Given the description of an element on the screen output the (x, y) to click on. 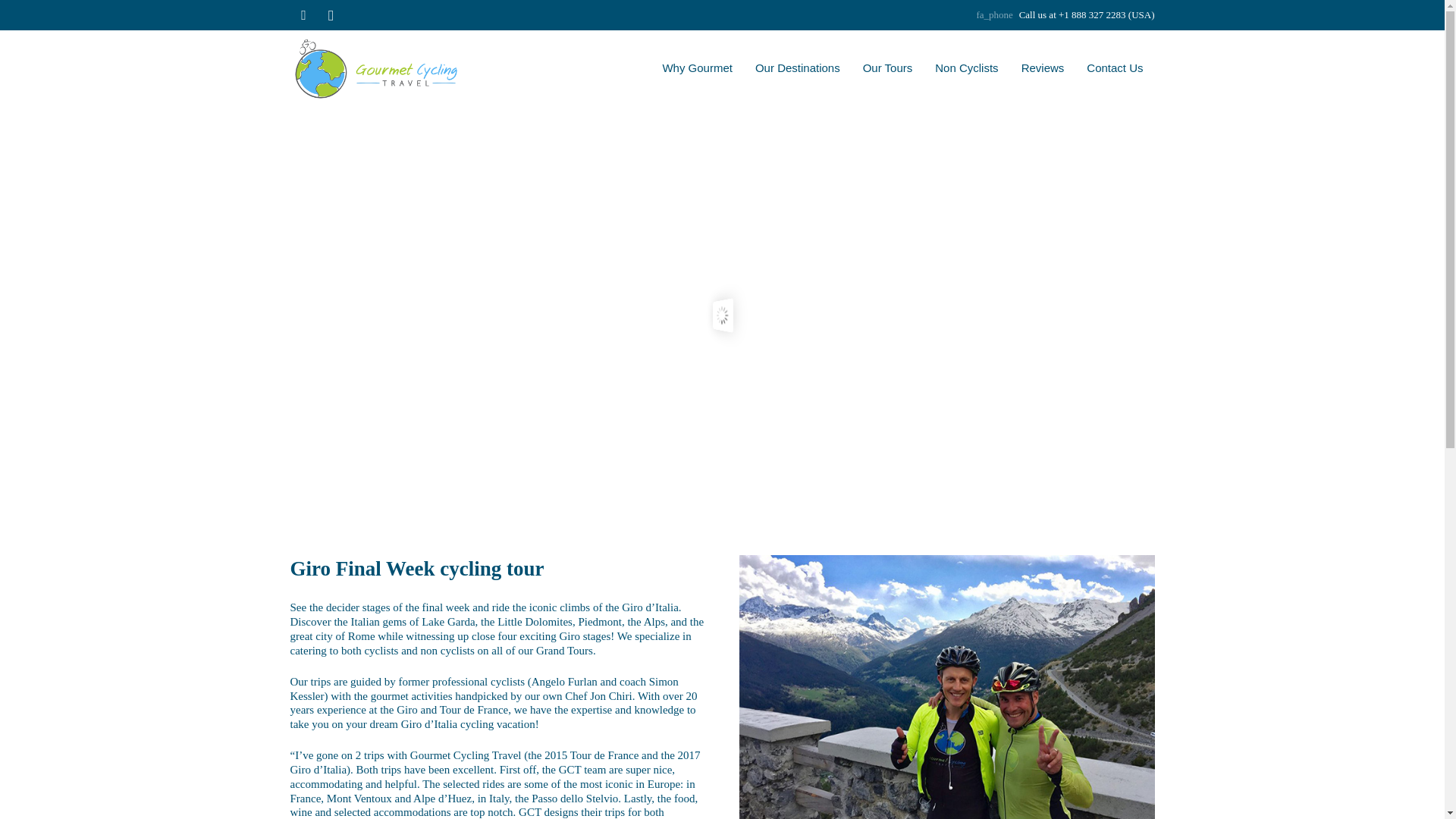
Our Destinations (797, 68)
Contact Us (1114, 68)
Why Gourmet (697, 68)
Our Tours (887, 68)
Facebook (303, 14)
Instagram (330, 14)
Non Cyclists (966, 68)
